Given the description of an element on the screen output the (x, y) to click on. 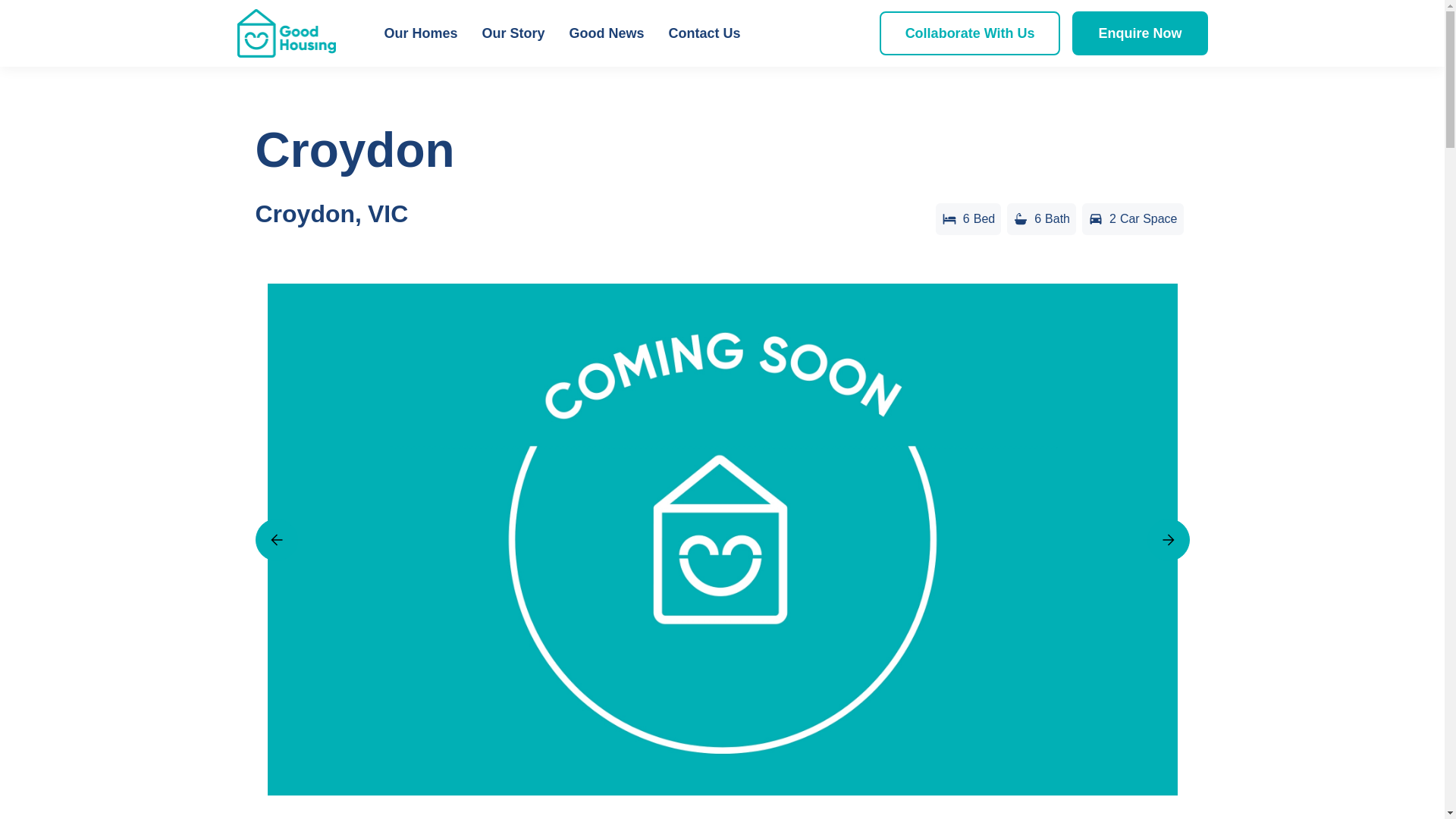
Our Homes (420, 33)
Contact Us (704, 33)
Enquire Now (1139, 33)
Collaborate With Us (970, 33)
Good News (607, 33)
Our Story (512, 33)
